Given the description of an element on the screen output the (x, y) to click on. 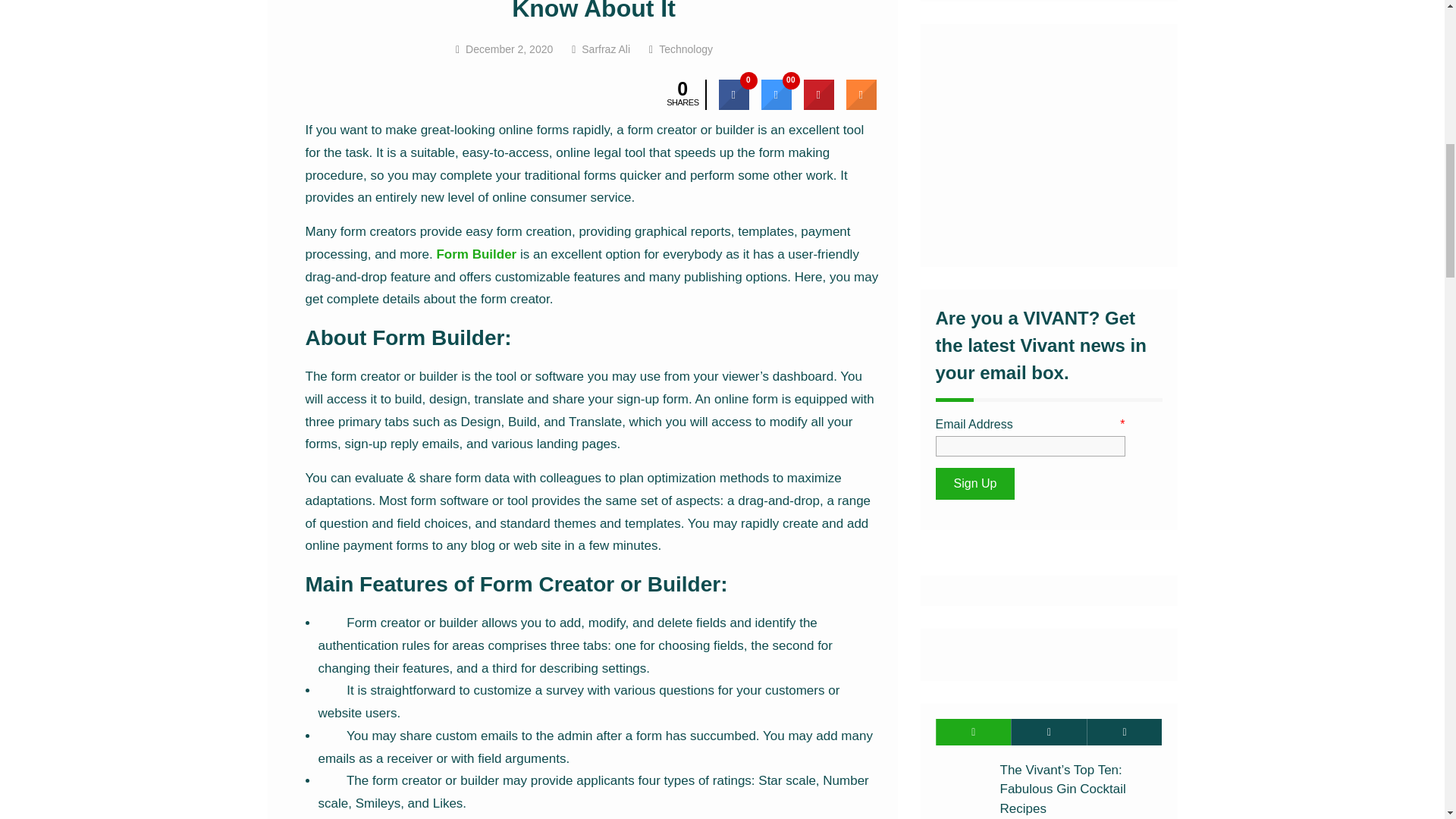
Sign Up (975, 483)
